Given the description of an element on the screen output the (x, y) to click on. 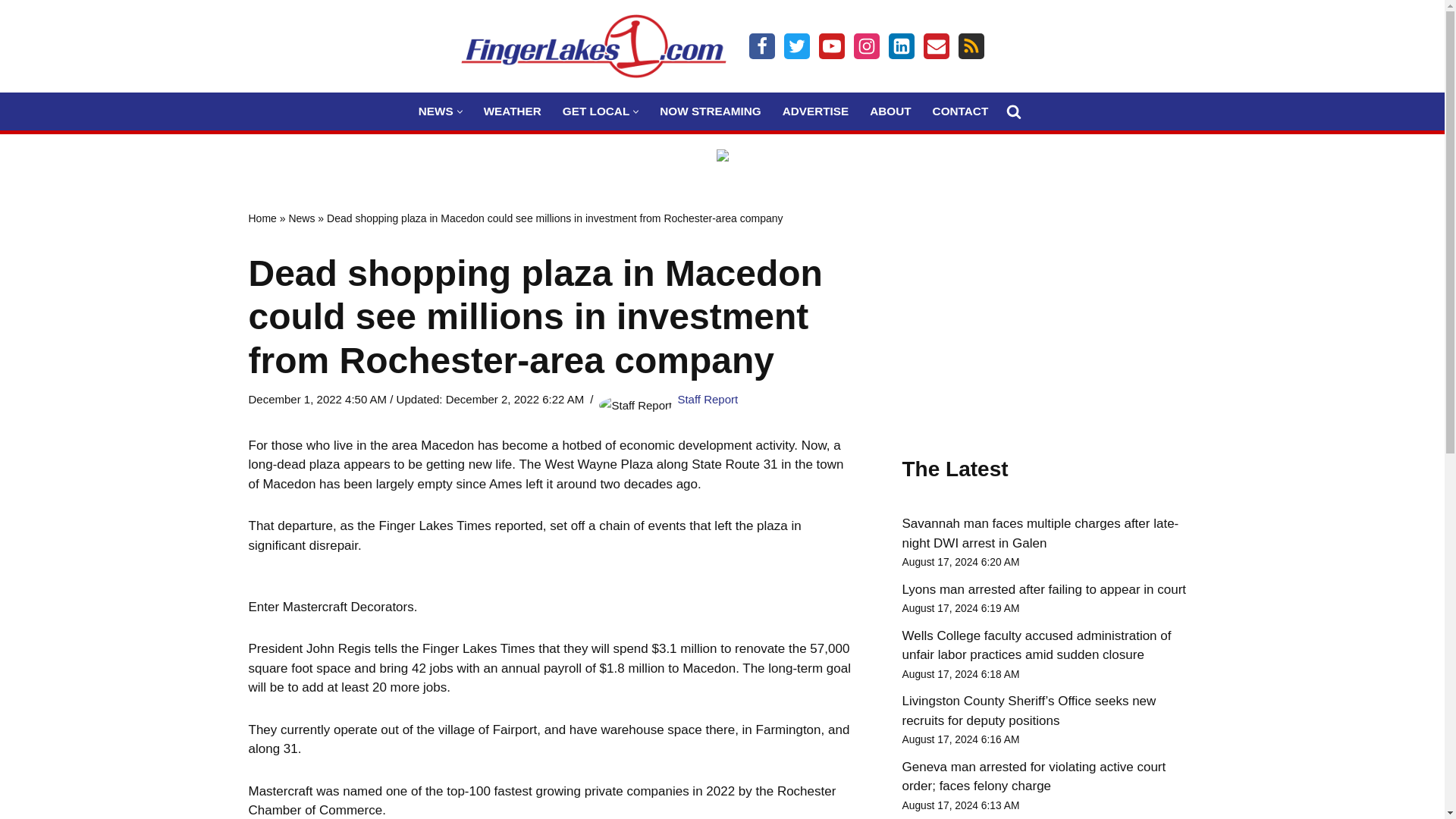
Youtube (831, 45)
LinkIn (901, 45)
ADVERTISE (815, 111)
WEATHER (512, 111)
CONTACT (960, 111)
Instagram (866, 45)
Feed (971, 45)
Facebook (761, 45)
ABOUT (890, 111)
Skip to content (11, 31)
